Given the description of an element on the screen output the (x, y) to click on. 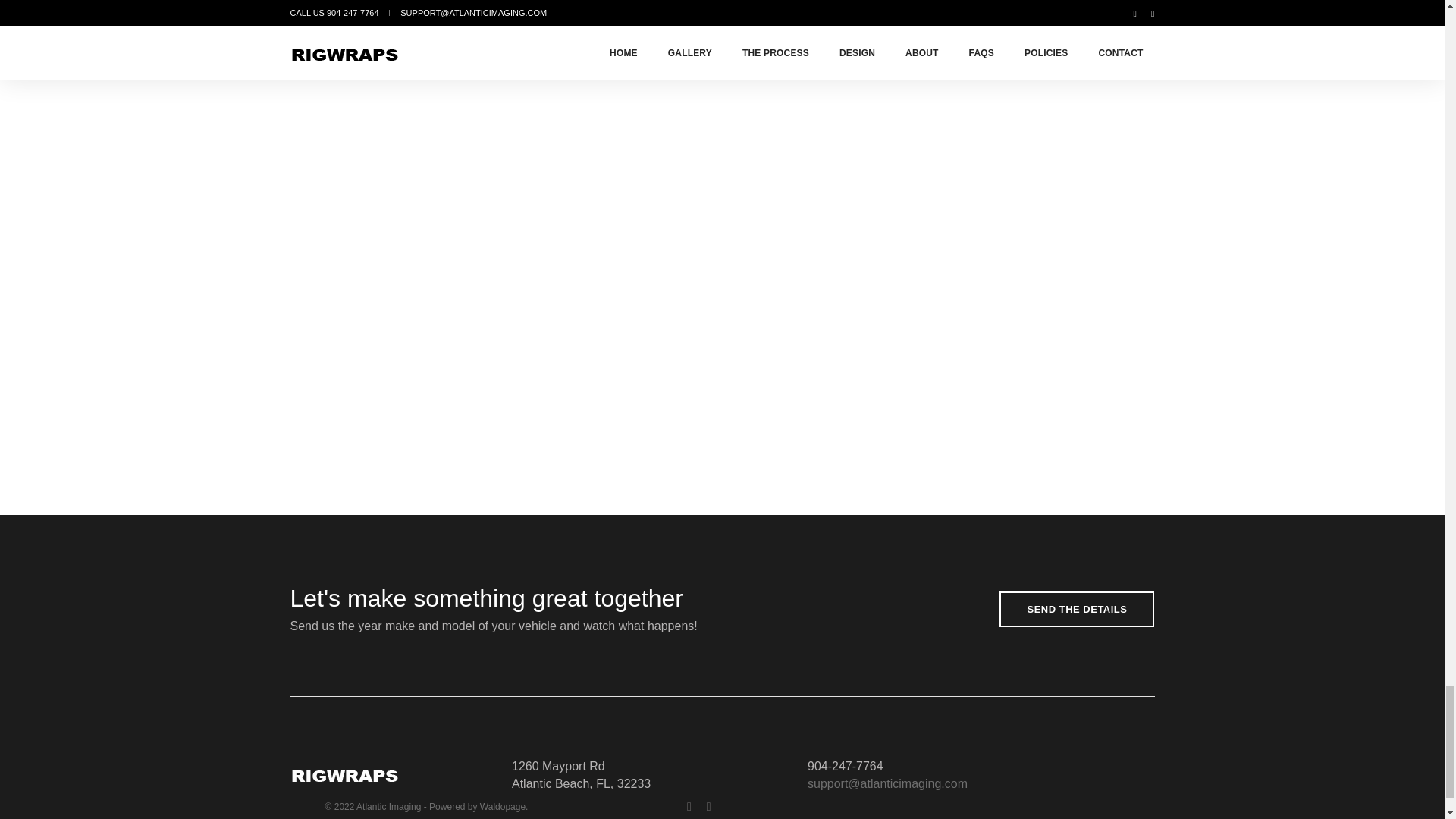
Waldopage (502, 806)
SEND THE DETAILS (1076, 609)
Waldopage (502, 806)
